Given the description of an element on the screen output the (x, y) to click on. 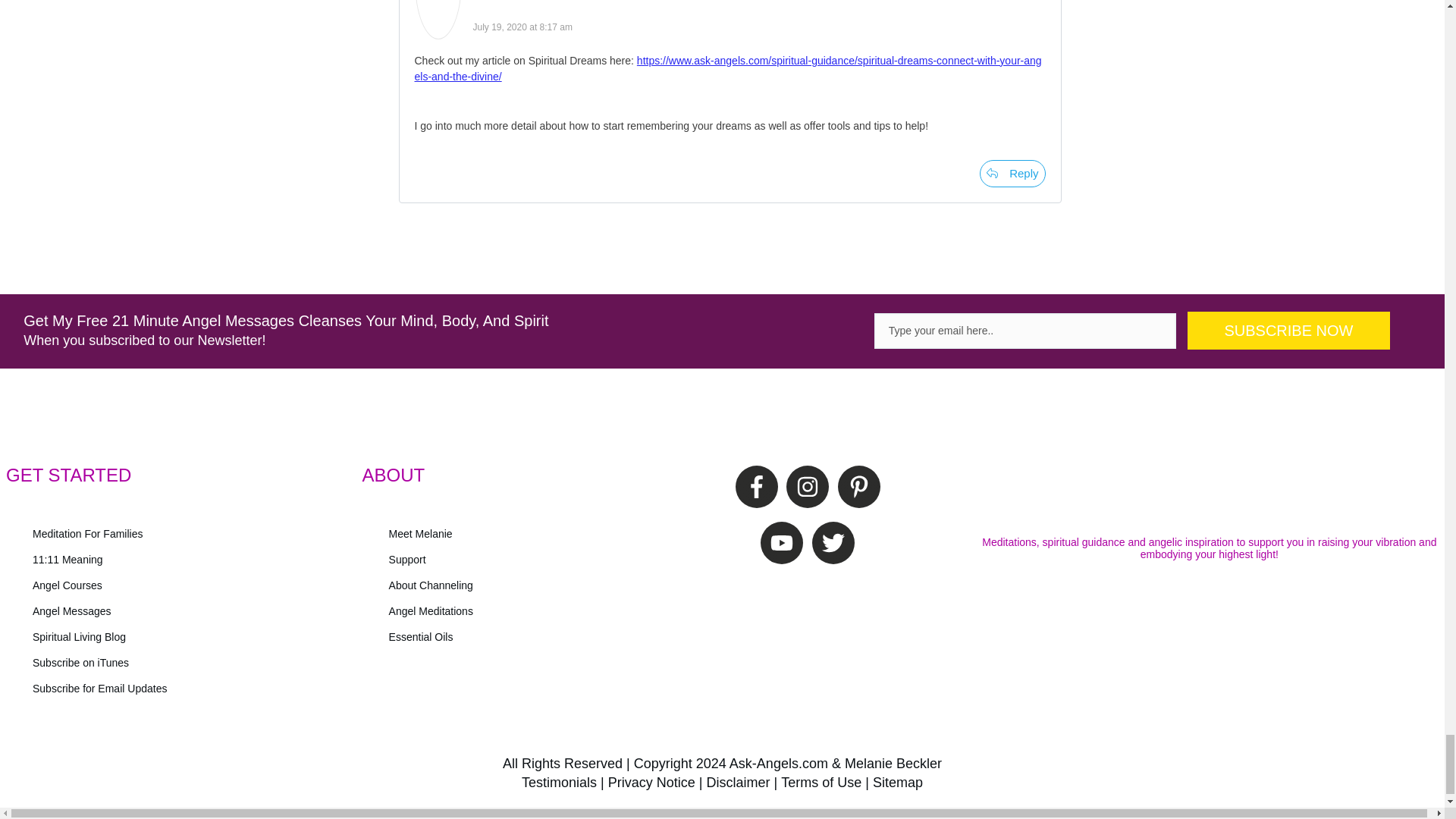
logo-2021 (1209, 491)
